Given the description of an element on the screen output the (x, y) to click on. 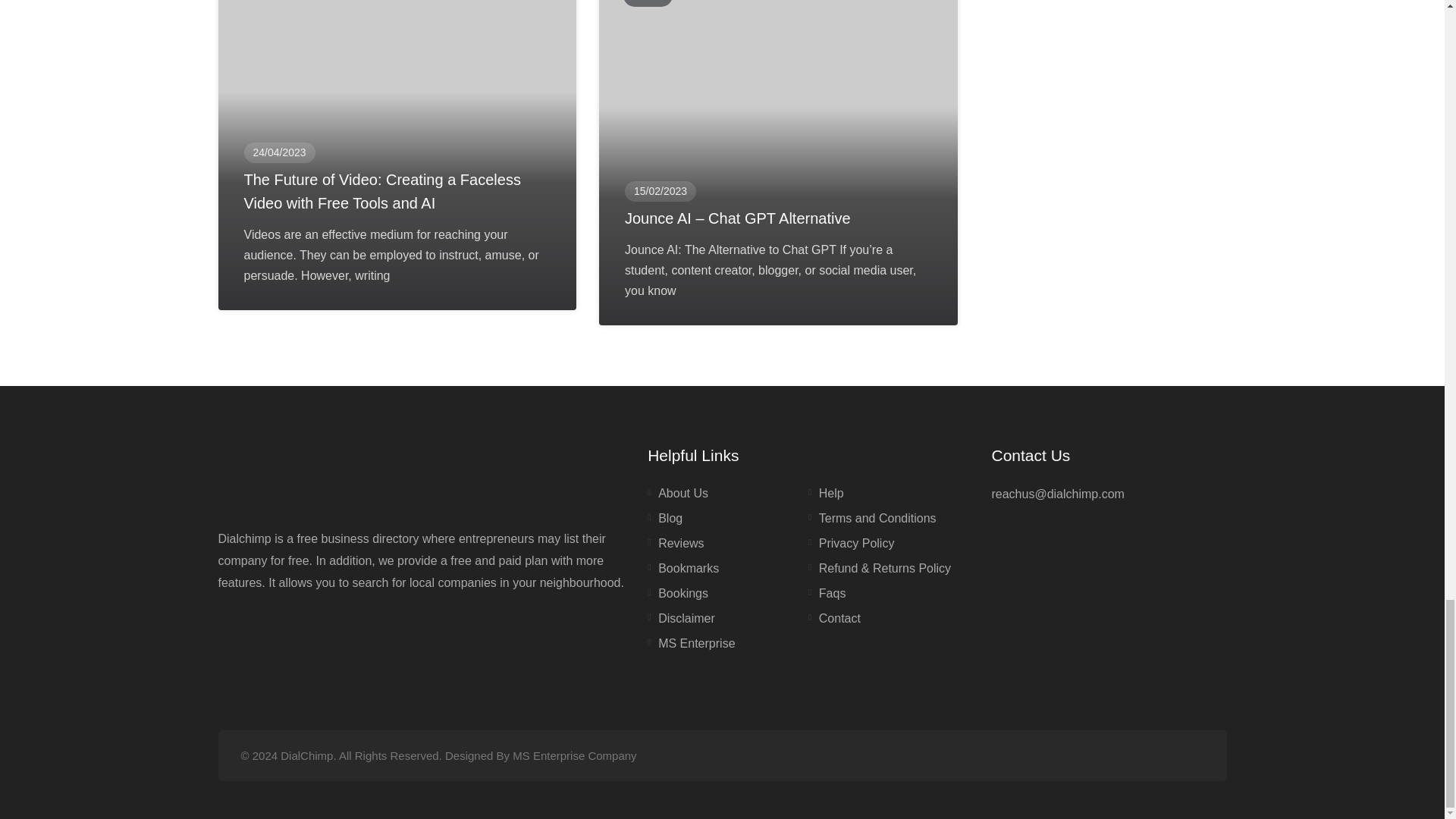
dc logo (350, 476)
